Given the description of an element on the screen output the (x, y) to click on. 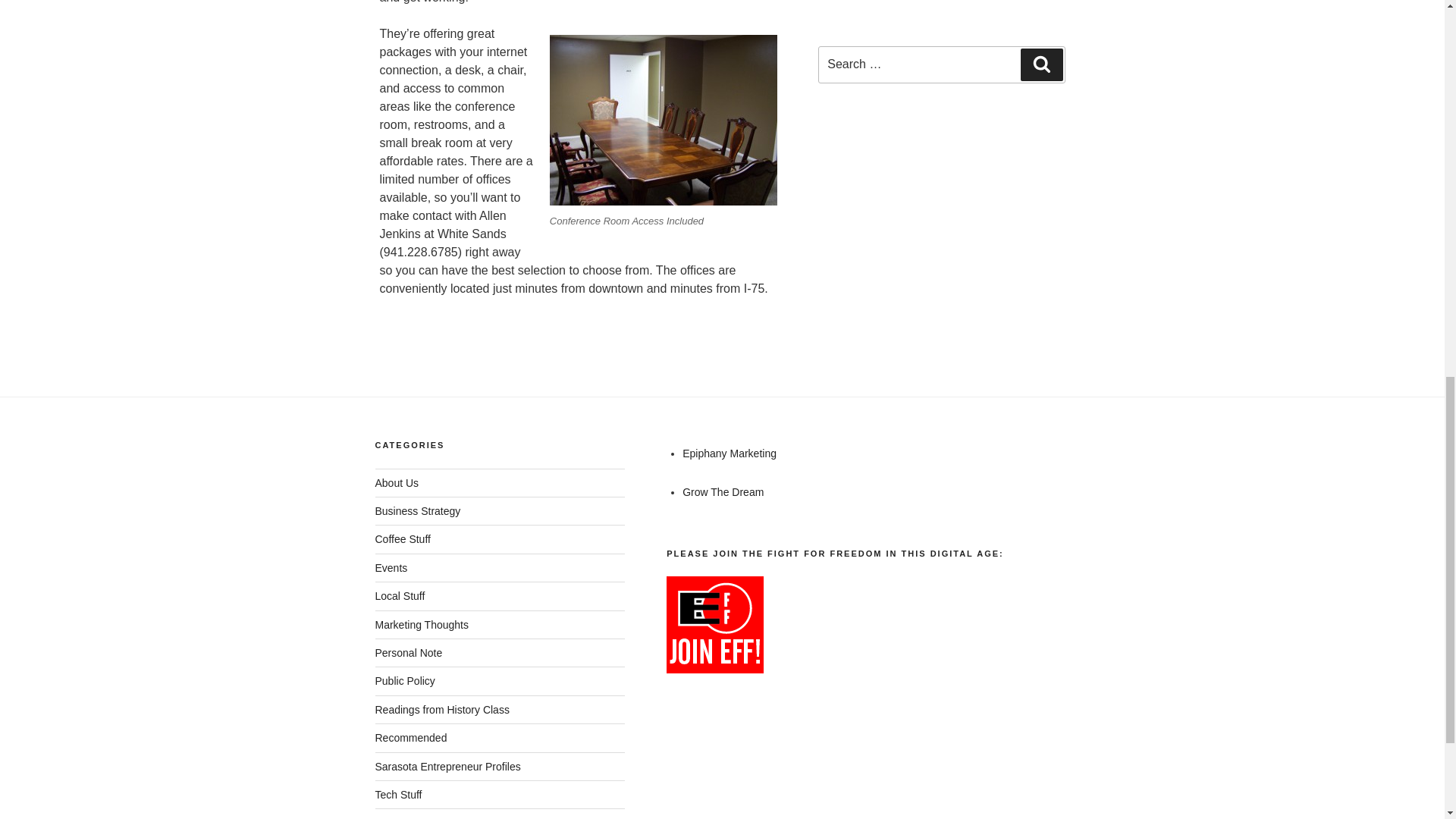
Grow The Dream (722, 491)
Public Policy (403, 680)
Conference Room Access Included (663, 120)
Readings from History Class (441, 709)
About Us (396, 482)
Coffee Stuff (401, 539)
Marketing Thoughts (420, 624)
Personal Note (408, 653)
Business Strategy (417, 510)
Search (1041, 64)
Tech Stuff (398, 794)
Events (390, 567)
Epiphany Marketing (729, 453)
Local Stuff (399, 595)
Sarasota Entrepreneur Profiles (446, 766)
